Given the description of an element on the screen output the (x, y) to click on. 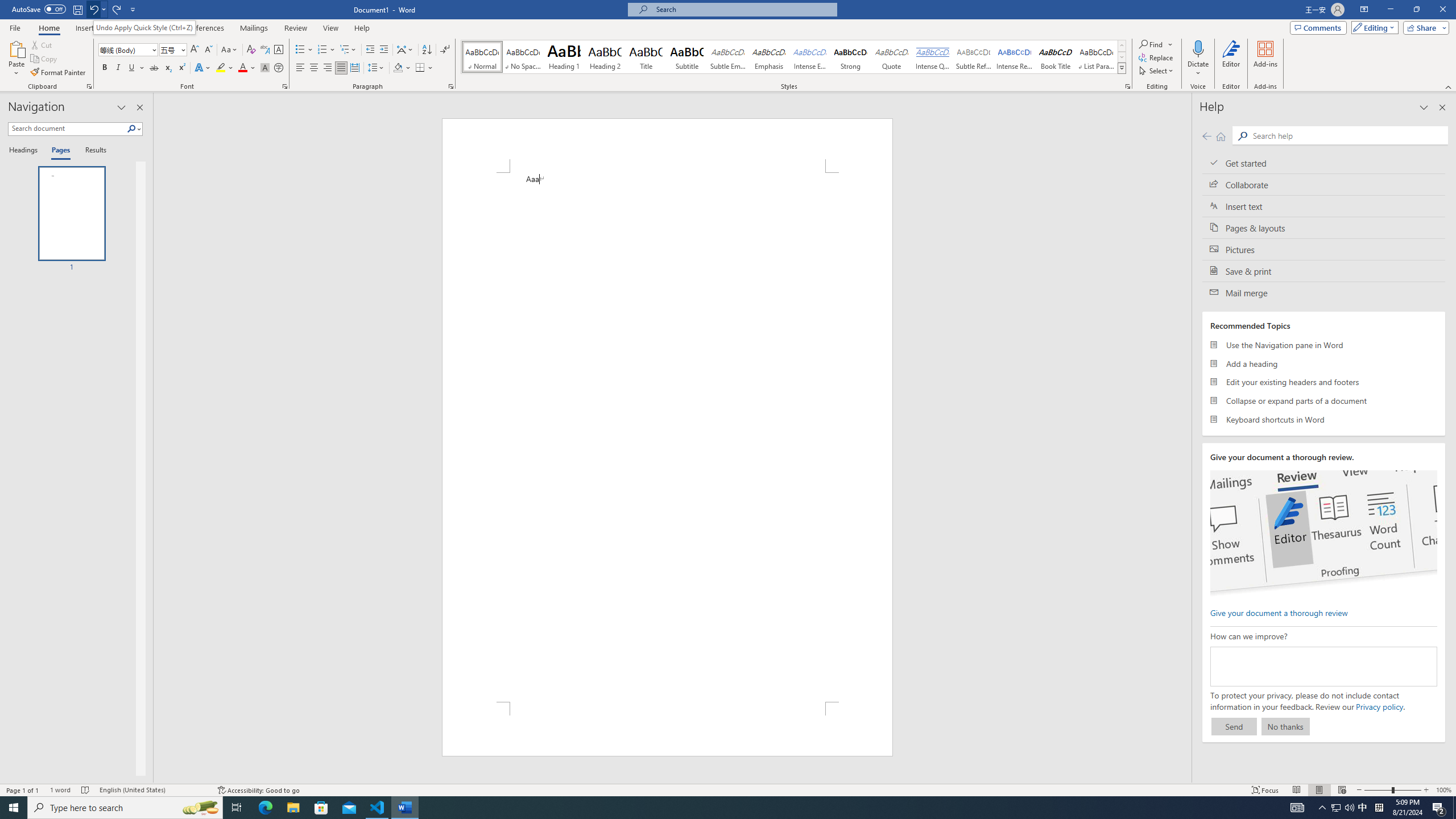
How can we improve? (1323, 666)
Editor (1231, 58)
Subtle Reference (973, 56)
Language English (United States) (152, 790)
Collapse or expand parts of a document (1323, 400)
Font Color Red (241, 67)
Row Down (1121, 56)
Headings (25, 150)
Page 1 content (667, 436)
Decrease Indent (370, 49)
